Given the description of an element on the screen output the (x, y) to click on. 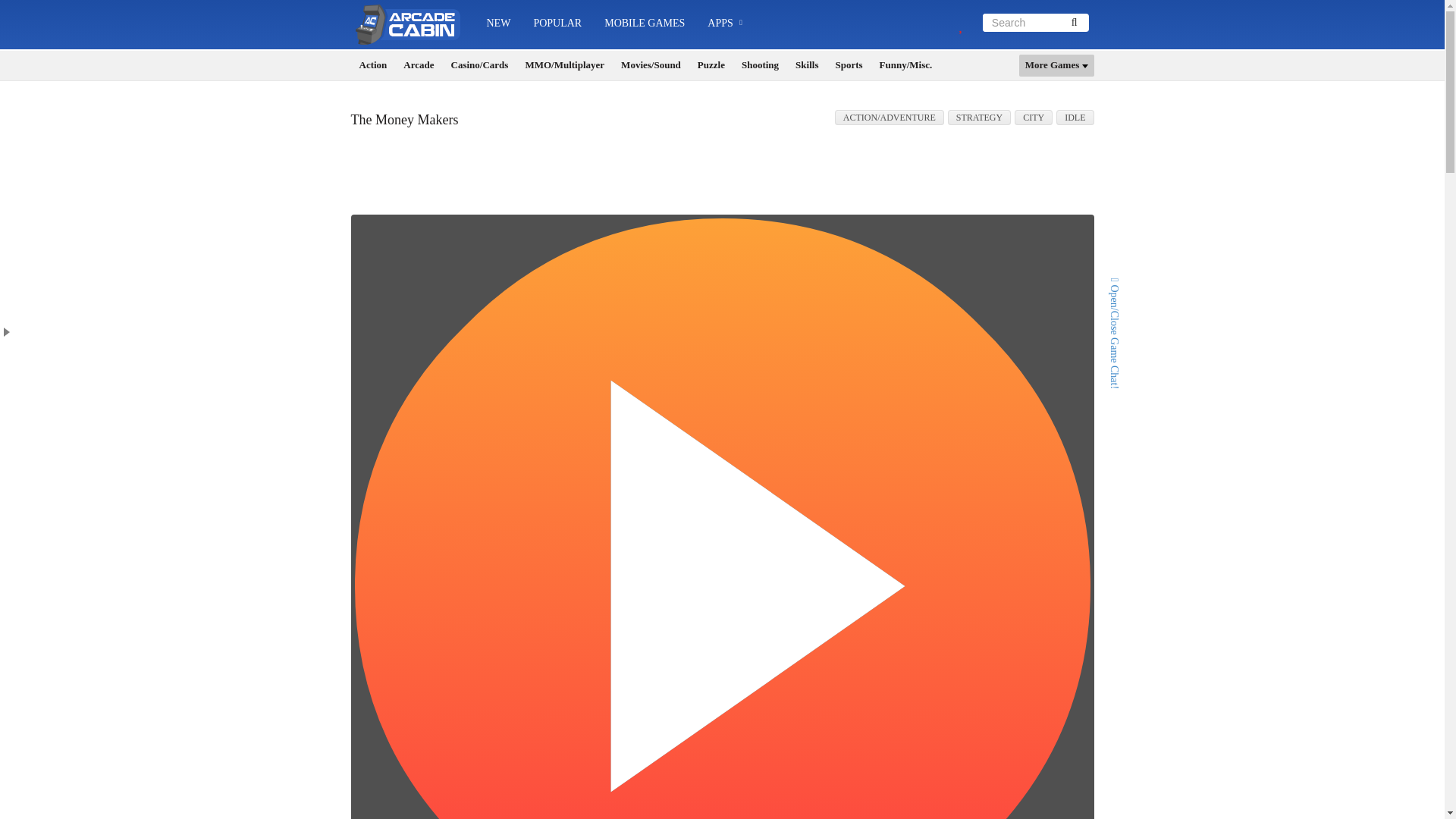
Puzzle (710, 65)
Advertisement (722, 176)
Skills (806, 65)
Action (373, 65)
APPS (724, 23)
Sports (847, 65)
NEW (497, 23)
More Games (1056, 65)
Shooting (759, 65)
Arcade (418, 65)
